Given the description of an element on the screen output the (x, y) to click on. 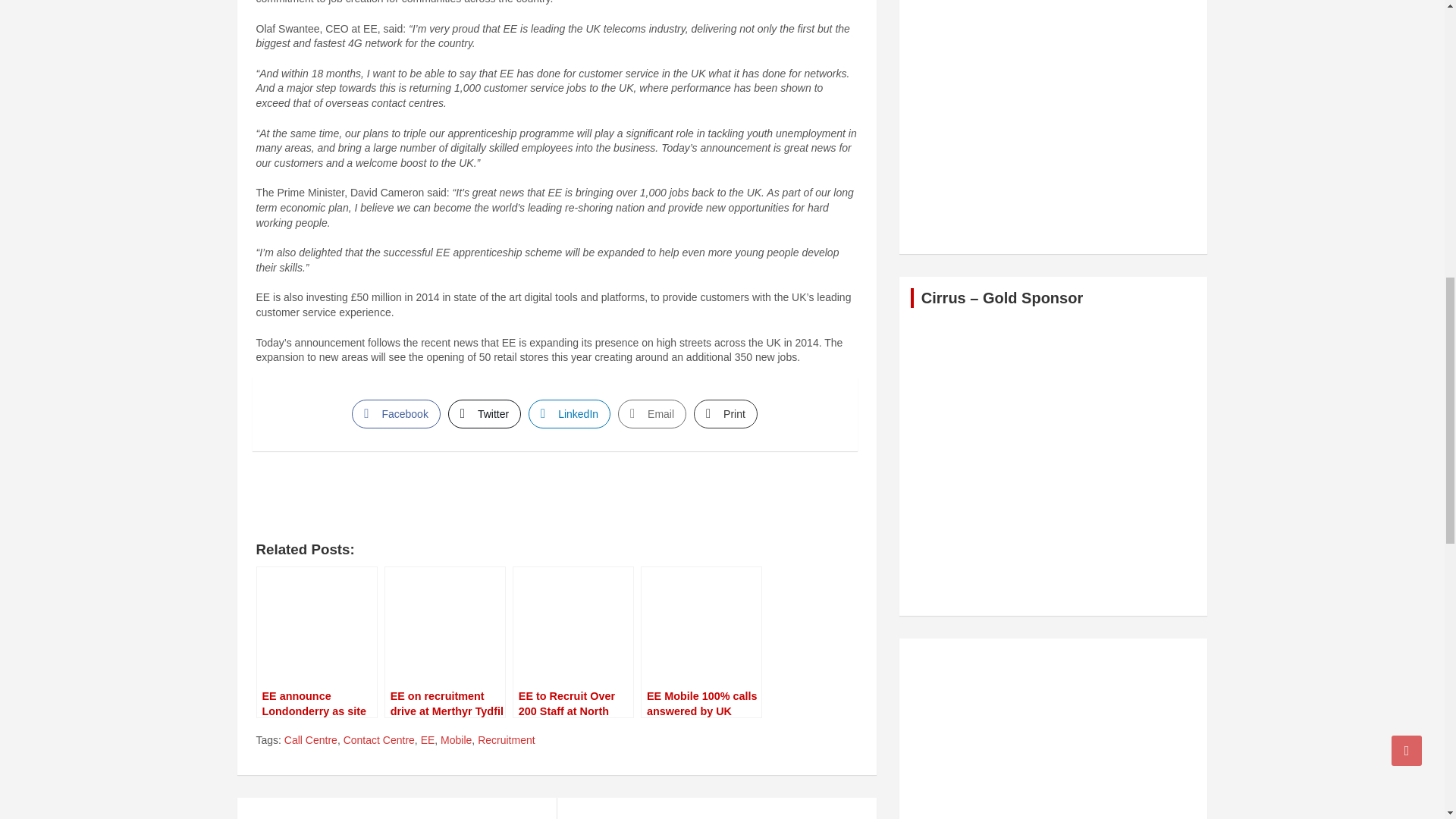
Twitter (484, 413)
LinkedIn (569, 413)
Facebook (395, 413)
Email (651, 413)
Recruitment (505, 740)
Print (725, 413)
Call Centre (310, 740)
Contact Centre (378, 740)
EE (427, 740)
Mobile (456, 740)
